Given the description of an element on the screen output the (x, y) to click on. 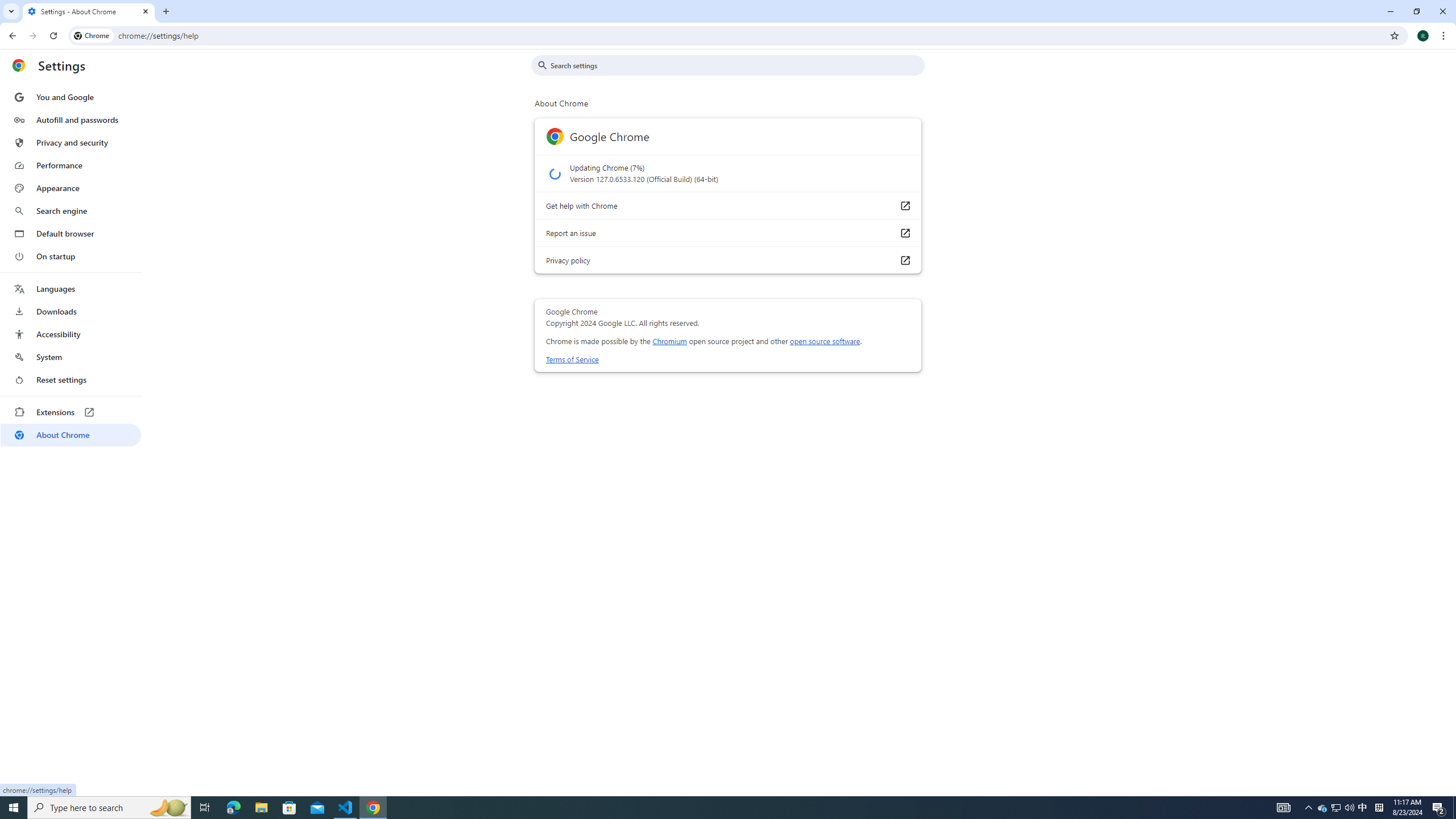
AutomationID: menu (71, 265)
Autofill and passwords (70, 119)
Default browser (70, 233)
You and Google (70, 96)
Search engine (70, 210)
On startup (70, 255)
Settings - About Chrome (88, 11)
Downloads (70, 311)
Reset settings (70, 379)
Appearance (70, 187)
